Given the description of an element on the screen output the (x, y) to click on. 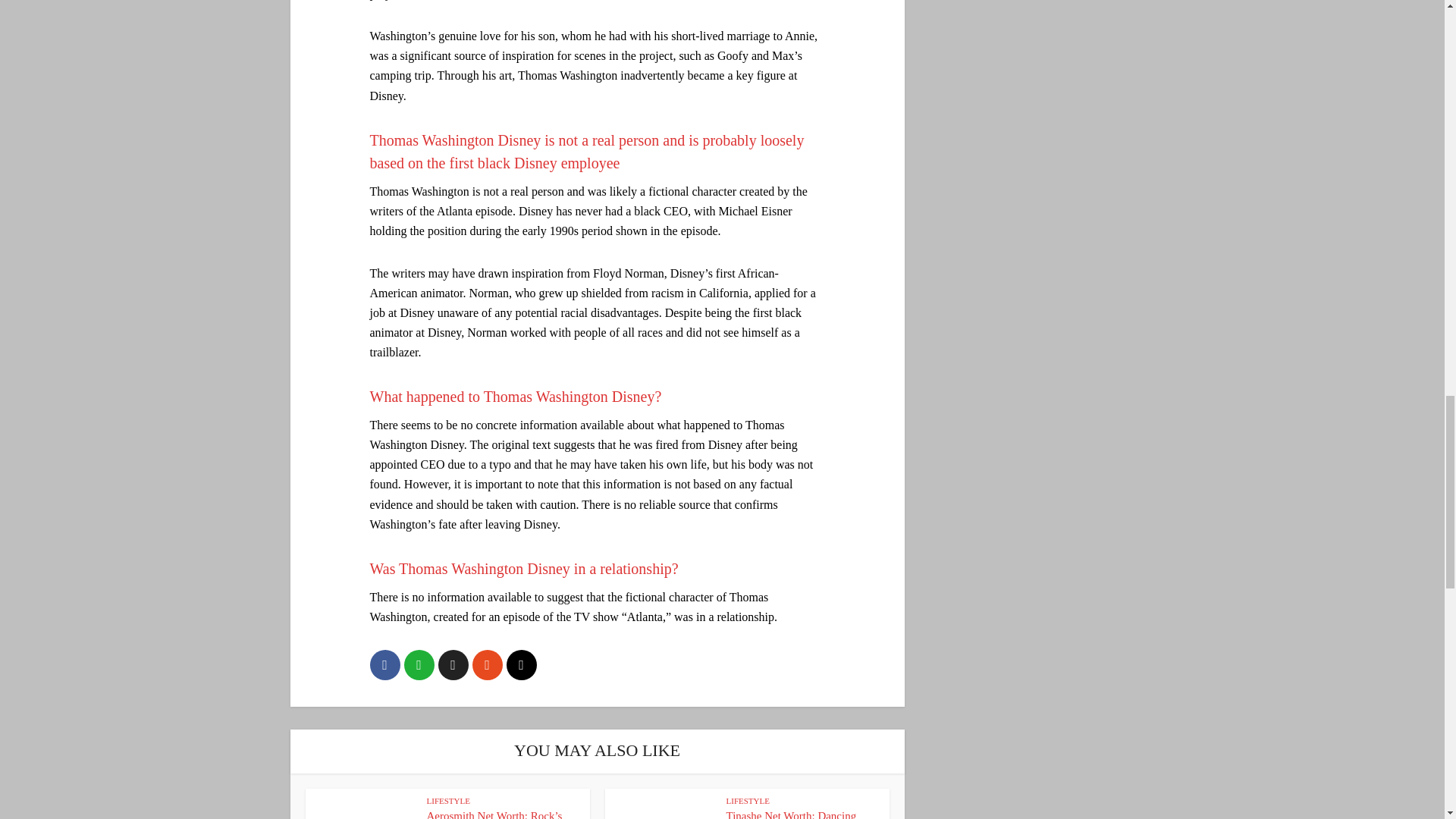
Tinashe Net Worth: Dancing Down the Path to Prosperity (791, 814)
LIFESTYLE (748, 800)
LIFESTYLE (447, 800)
